Given the description of an element on the screen output the (x, y) to click on. 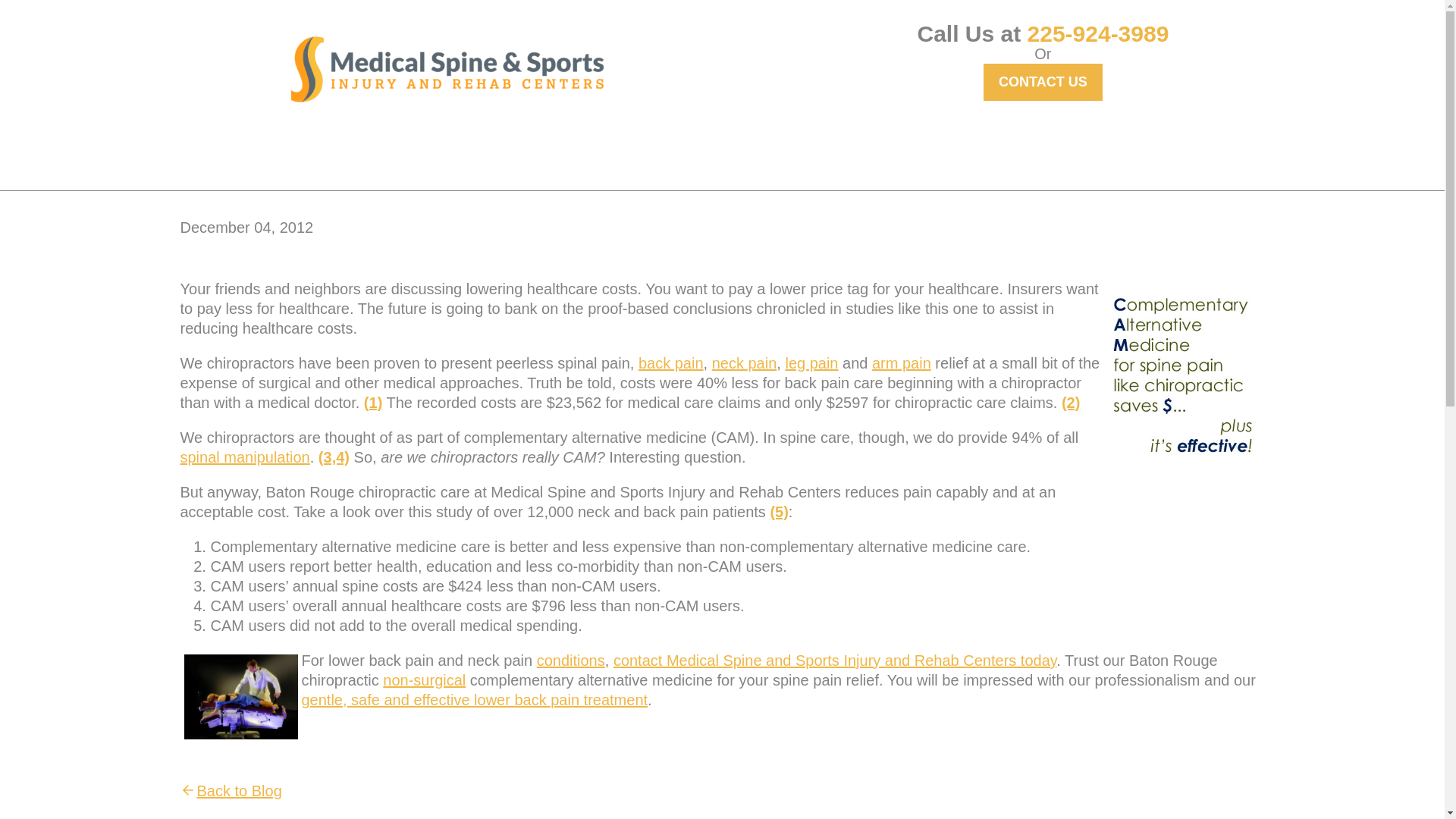
Medical Spine and Sports Injury and Rehab Centers Home (446, 69)
ID YOUR PAIN (467, 153)
225-924-3989 (1098, 33)
CONTACT US (1043, 81)
GET RELIEF (353, 153)
